Given the description of an element on the screen output the (x, y) to click on. 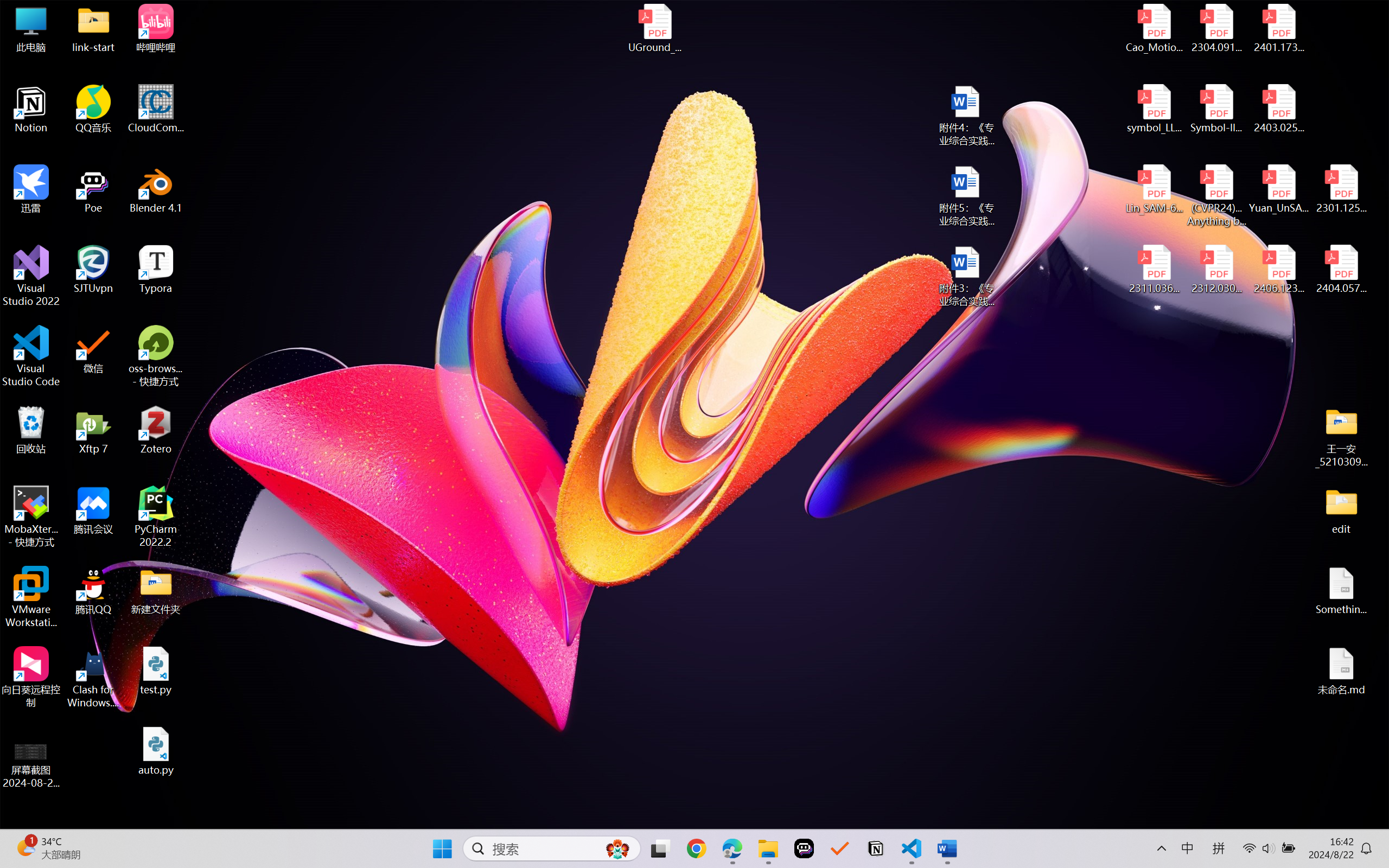
Something.md (1340, 591)
2312.03032v2.pdf (1216, 269)
CloudCompare (156, 109)
2404.05719v1.pdf (1340, 269)
Blender 4.1 (156, 189)
Xftp 7 (93, 430)
